Given the description of an element on the screen output the (x, y) to click on. 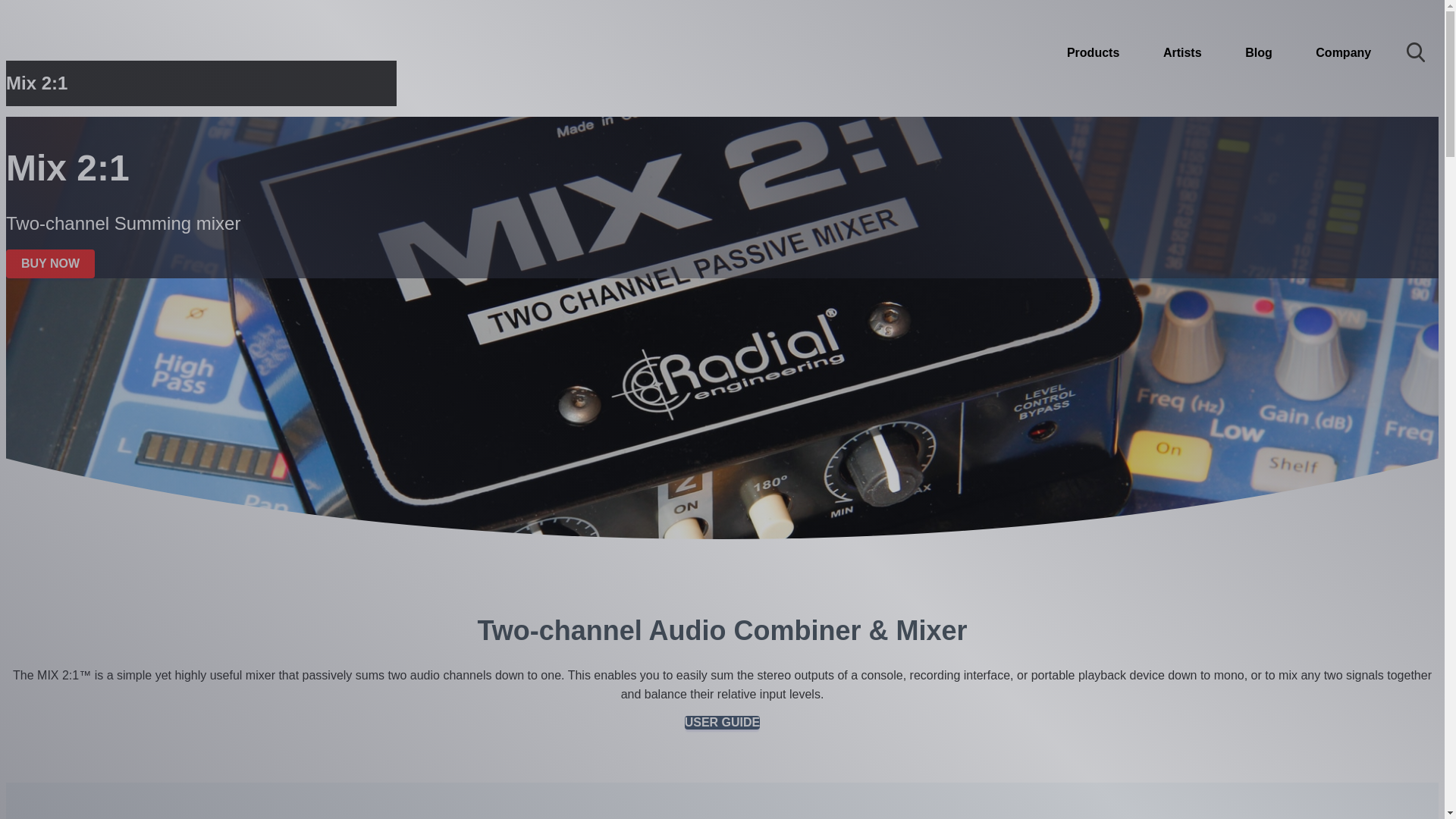
Blog (1258, 52)
Artists (1182, 52)
